Given the description of an element on the screen output the (x, y) to click on. 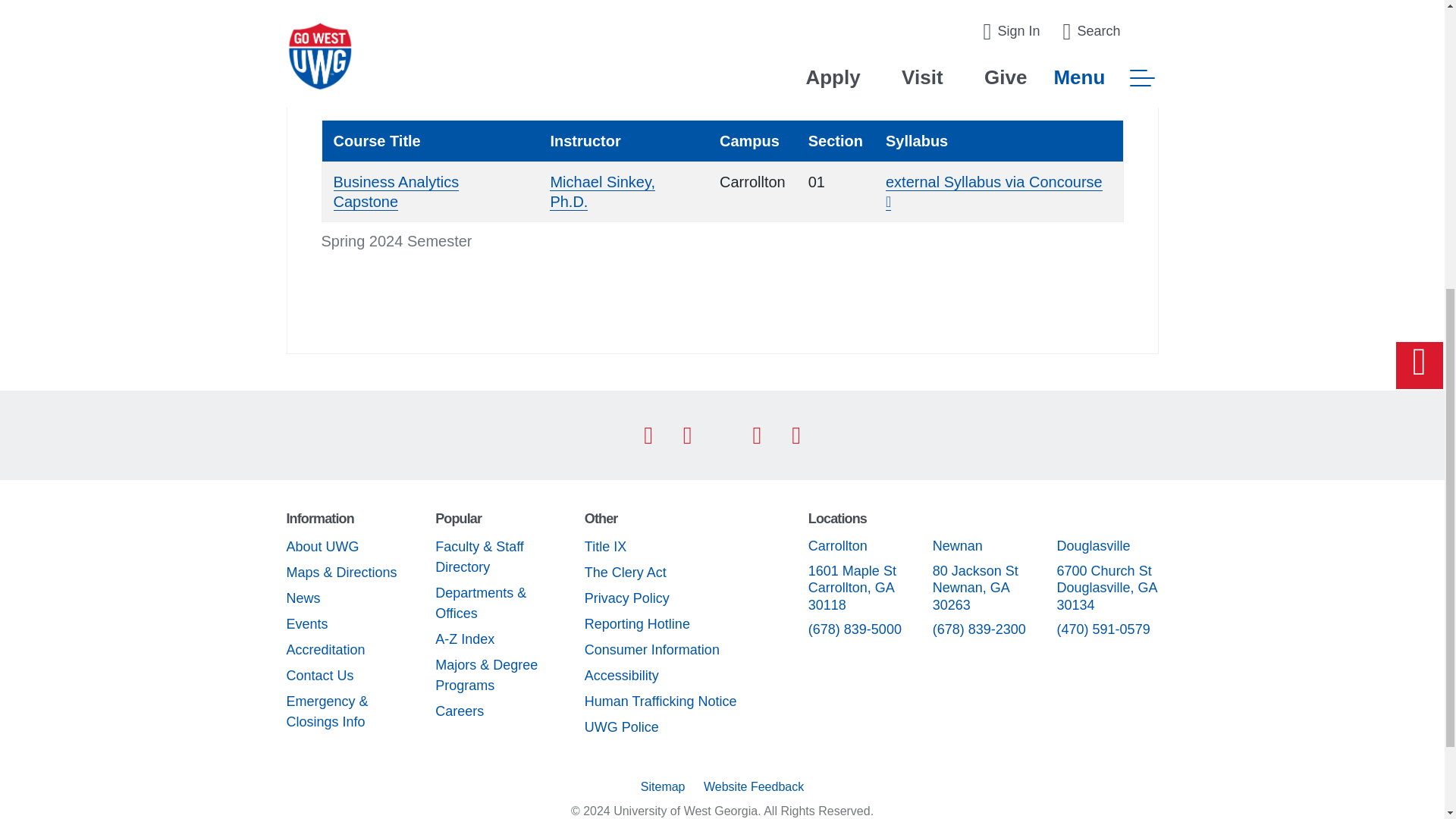
View Profile for Michael Sinkey, Ph.D. (602, 191)
View syllabus via Concourse (993, 191)
